Given the description of an element on the screen output the (x, y) to click on. 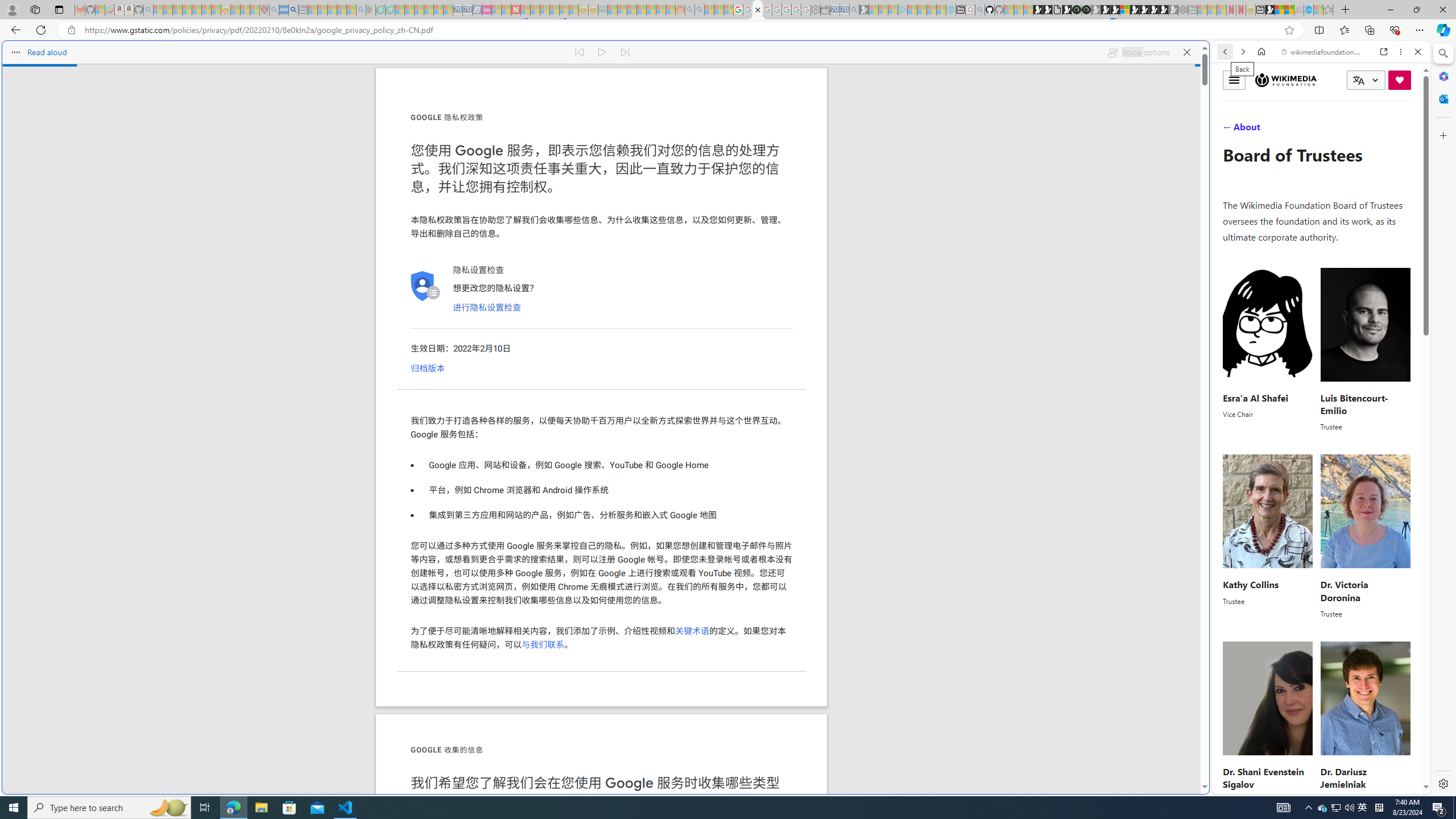
Shani Evenstein (1268, 698)
Favorites - Sleeping (1327, 9)
Victoria Doronina in 2021 (1365, 511)
